Given the description of an element on the screen output the (x, y) to click on. 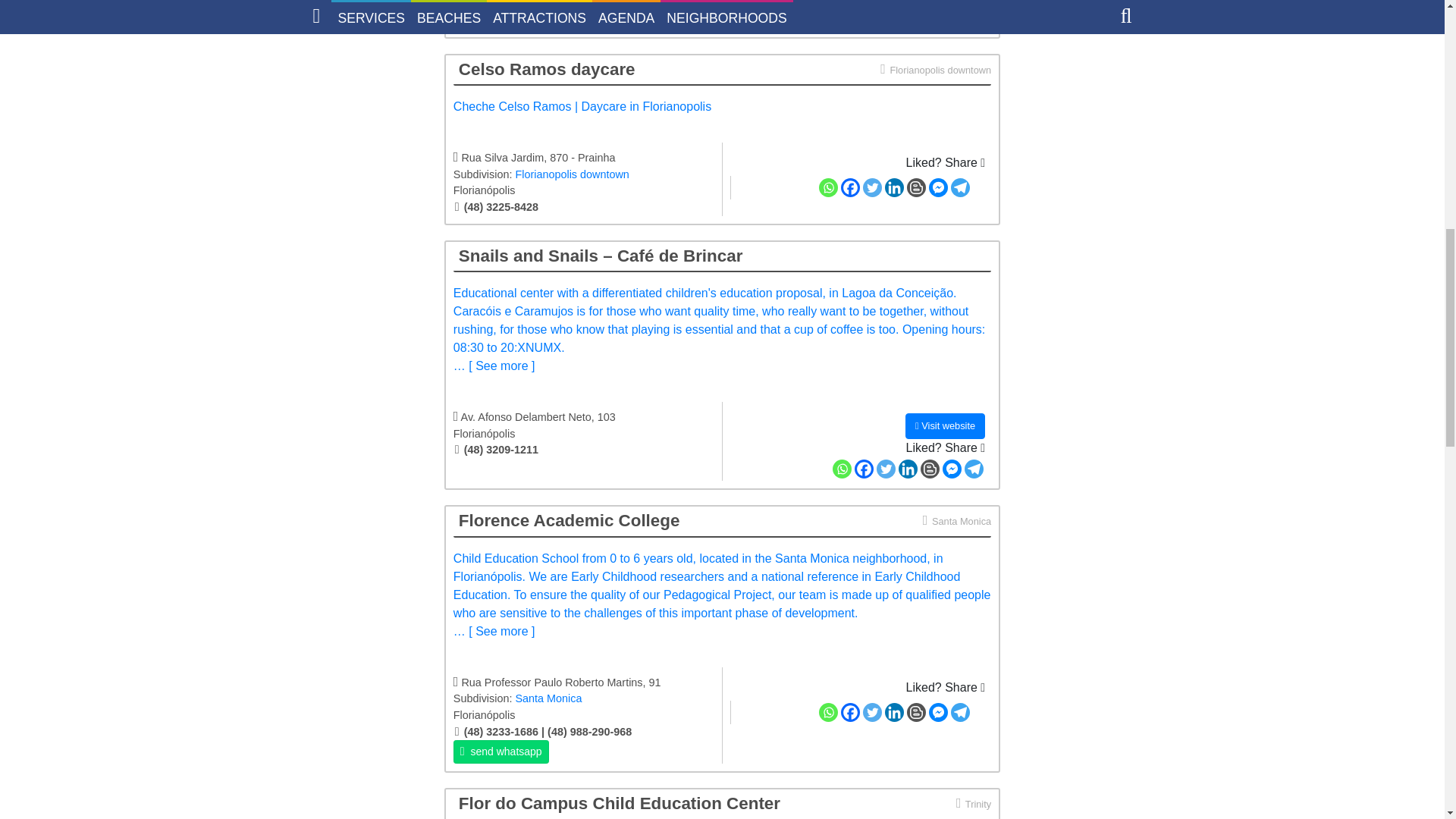
Twitter (885, 4)
Whatsapp (841, 4)
Fone Creche Celso Ramos (583, 207)
blogger post (929, 4)
Information about downtown Florianopolis (935, 68)
Fone Pensando e Construindo Nosso Mundo (583, 2)
Twitter (872, 187)
LinkedIn (907, 4)
Facebook (863, 4)
Whatsapp (828, 187)
Facebook (850, 187)
Send WhatsApp Thinking and Building Our World (500, 17)
Telegram (973, 4)
LinkedIn (894, 187)
